Given the description of an element on the screen output the (x, y) to click on. 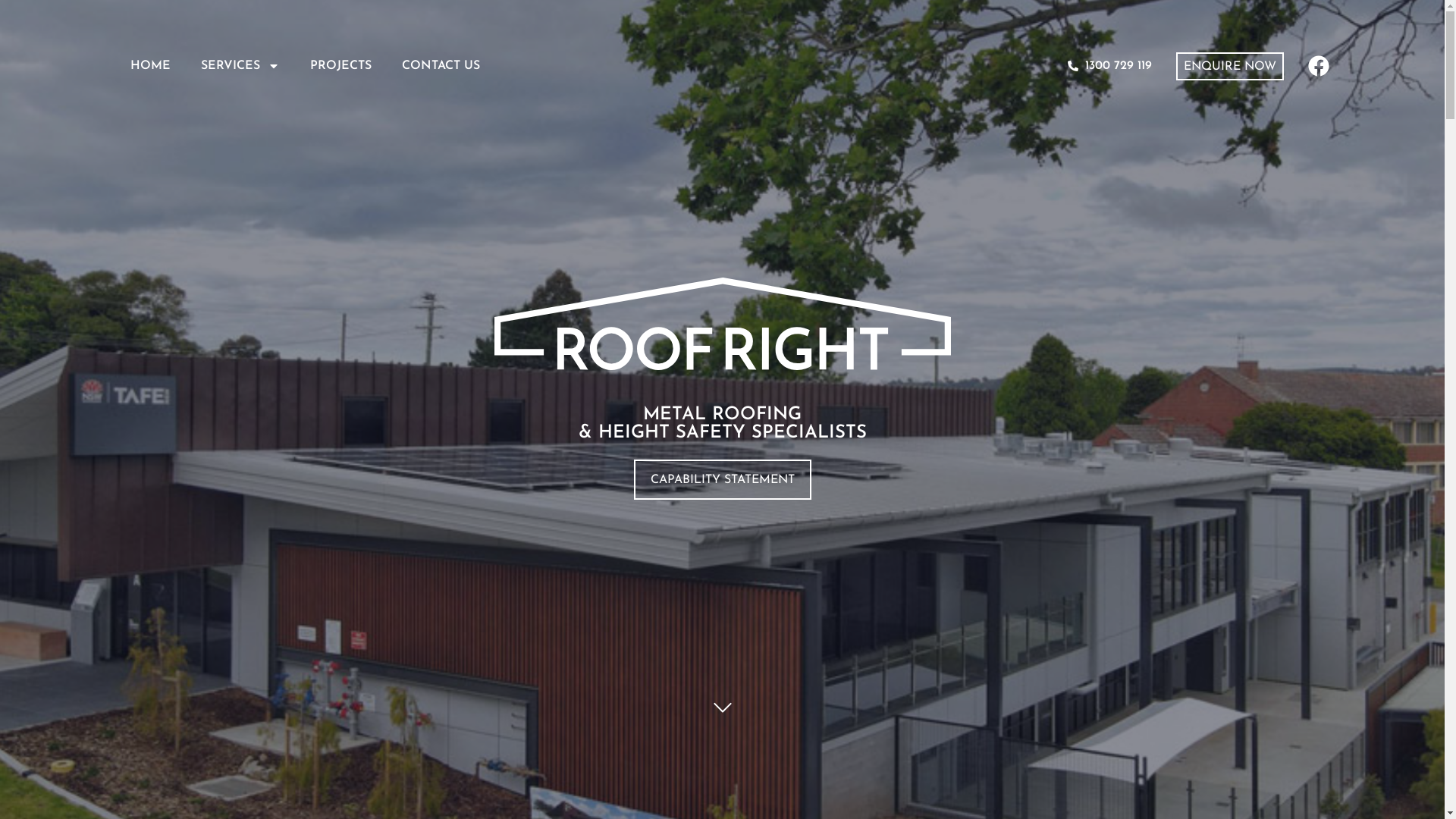
PROJECTS Element type: text (340, 65)
CONTACT US Element type: text (440, 65)
SERVICES Element type: text (239, 65)
HOME Element type: text (150, 65)
1300 729 119 Element type: text (1109, 65)
CAPABILITY STATEMENT Element type: text (722, 479)
ENQUIRE NOW Element type: text (1229, 65)
